Given the description of an element on the screen output the (x, y) to click on. 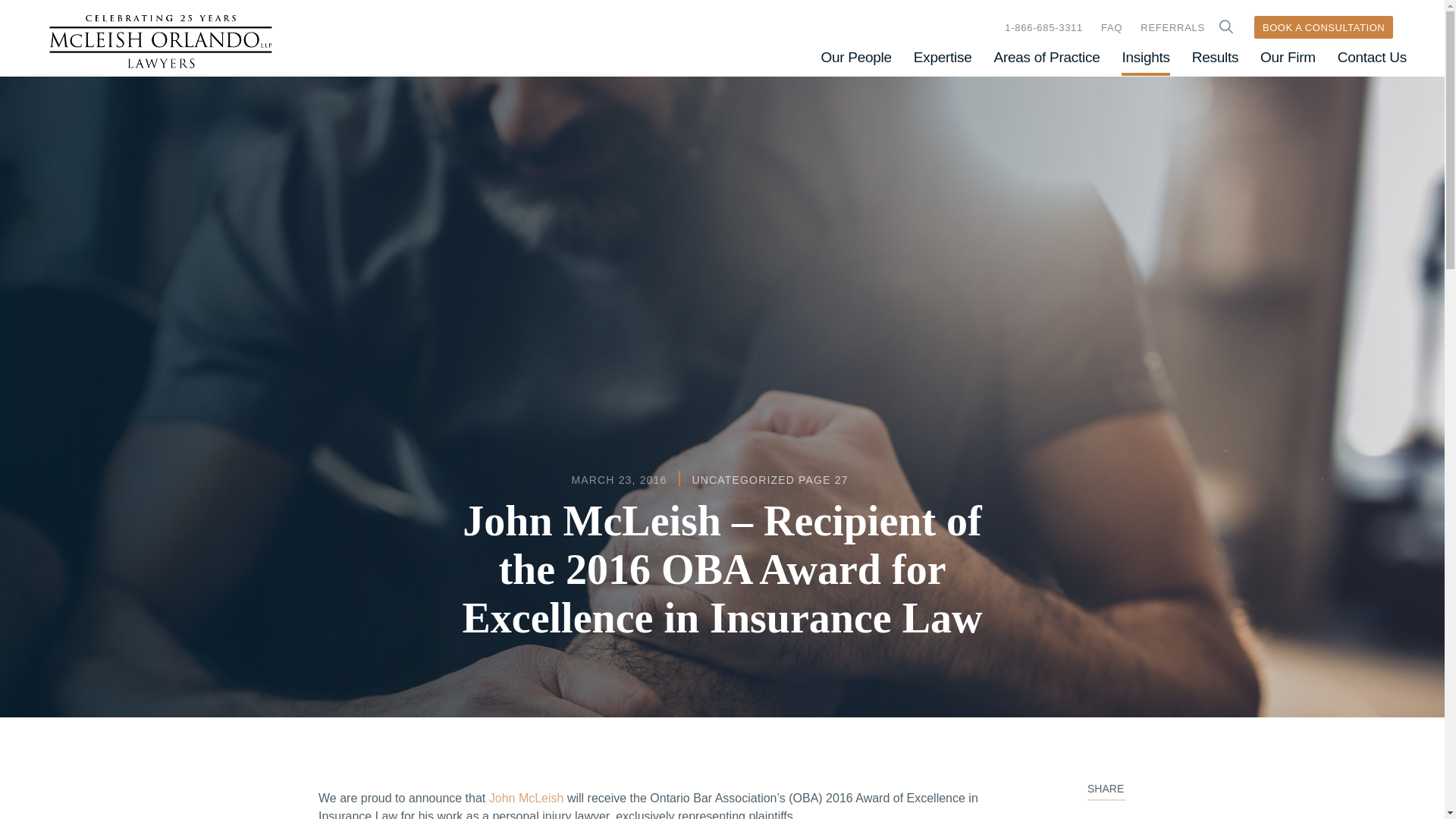
Results (1215, 57)
Our People (856, 57)
Insights (1145, 57)
Areas of Practice (1047, 57)
Contact Us (1372, 57)
Submit (1225, 26)
FAQ (1111, 27)
1-866-685-3311 (1043, 27)
Our Firm (1288, 57)
View all posts in Uncategorized Page 27 (769, 480)
Expertise (943, 57)
